Given the description of an element on the screen output the (x, y) to click on. 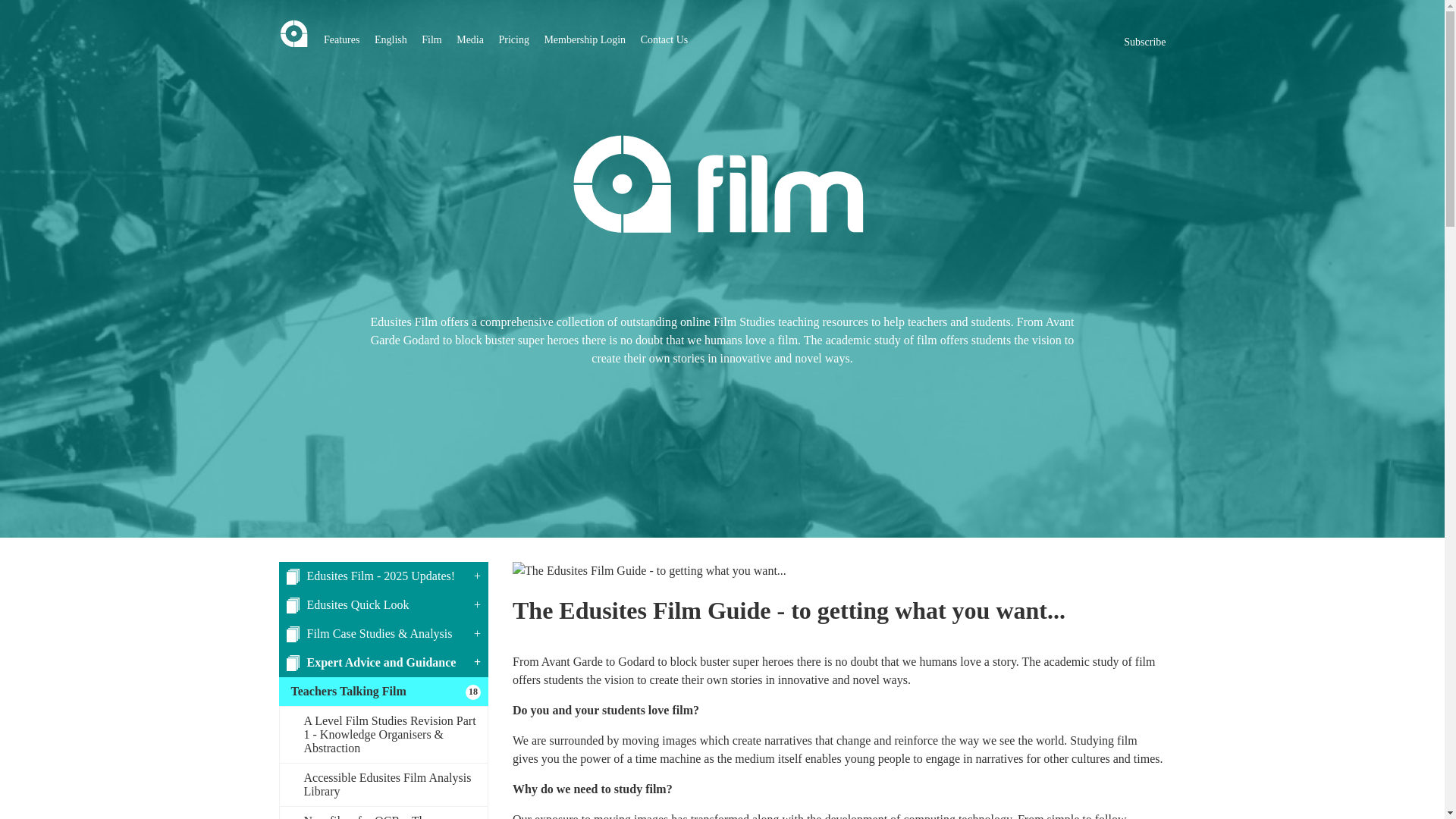
Contact Us (664, 39)
Membership Login (584, 39)
Features (341, 39)
English (390, 39)
Pricing (512, 39)
Media (470, 39)
Film (431, 39)
Subscribe (1145, 41)
